Given the description of an element on the screen output the (x, y) to click on. 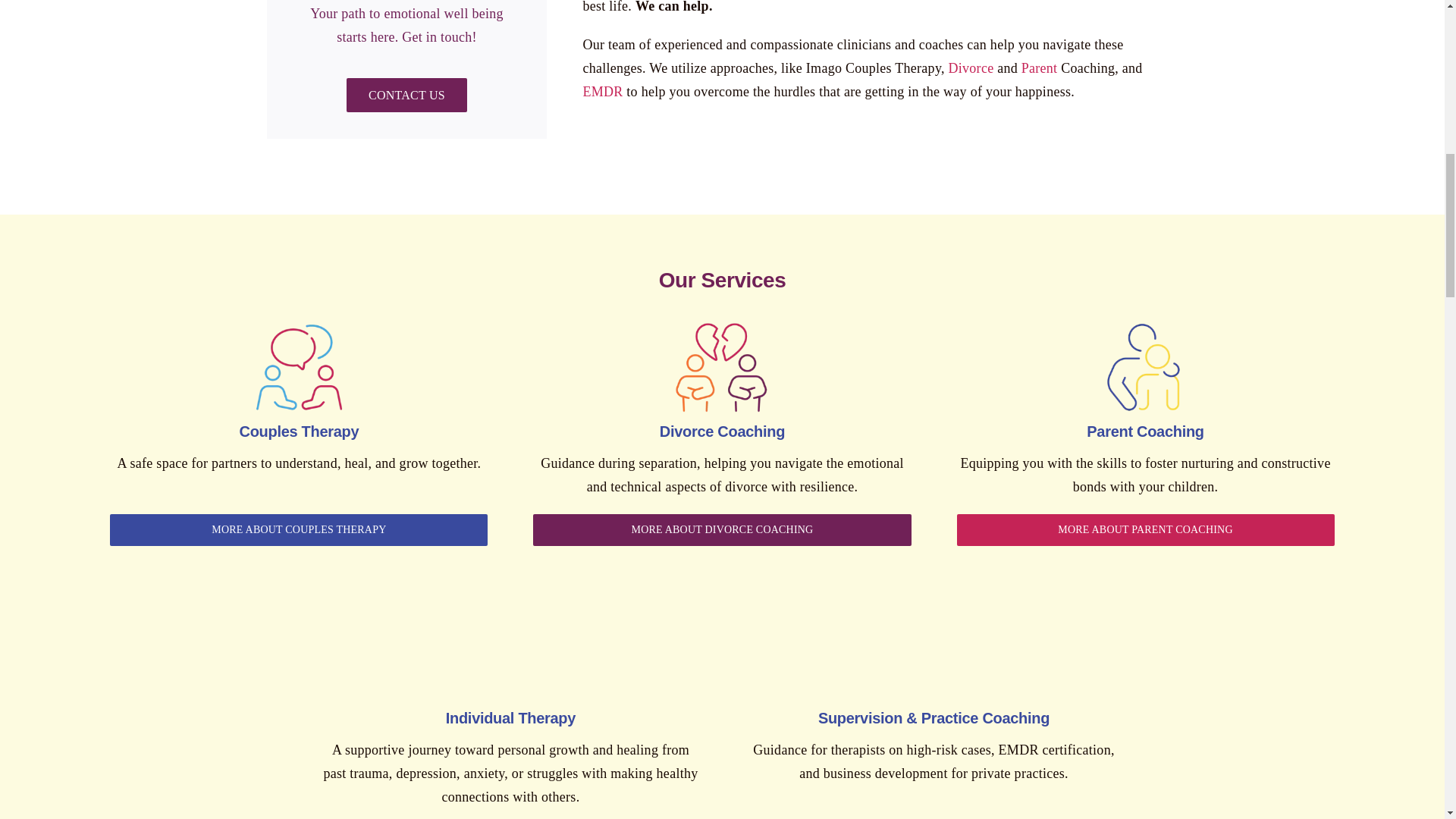
Individual Therapy (510, 653)
Divorce Coaching (721, 367)
Couples Therapy (297, 367)
Parent Coaching (1145, 367)
